Given the description of an element on the screen output the (x, y) to click on. 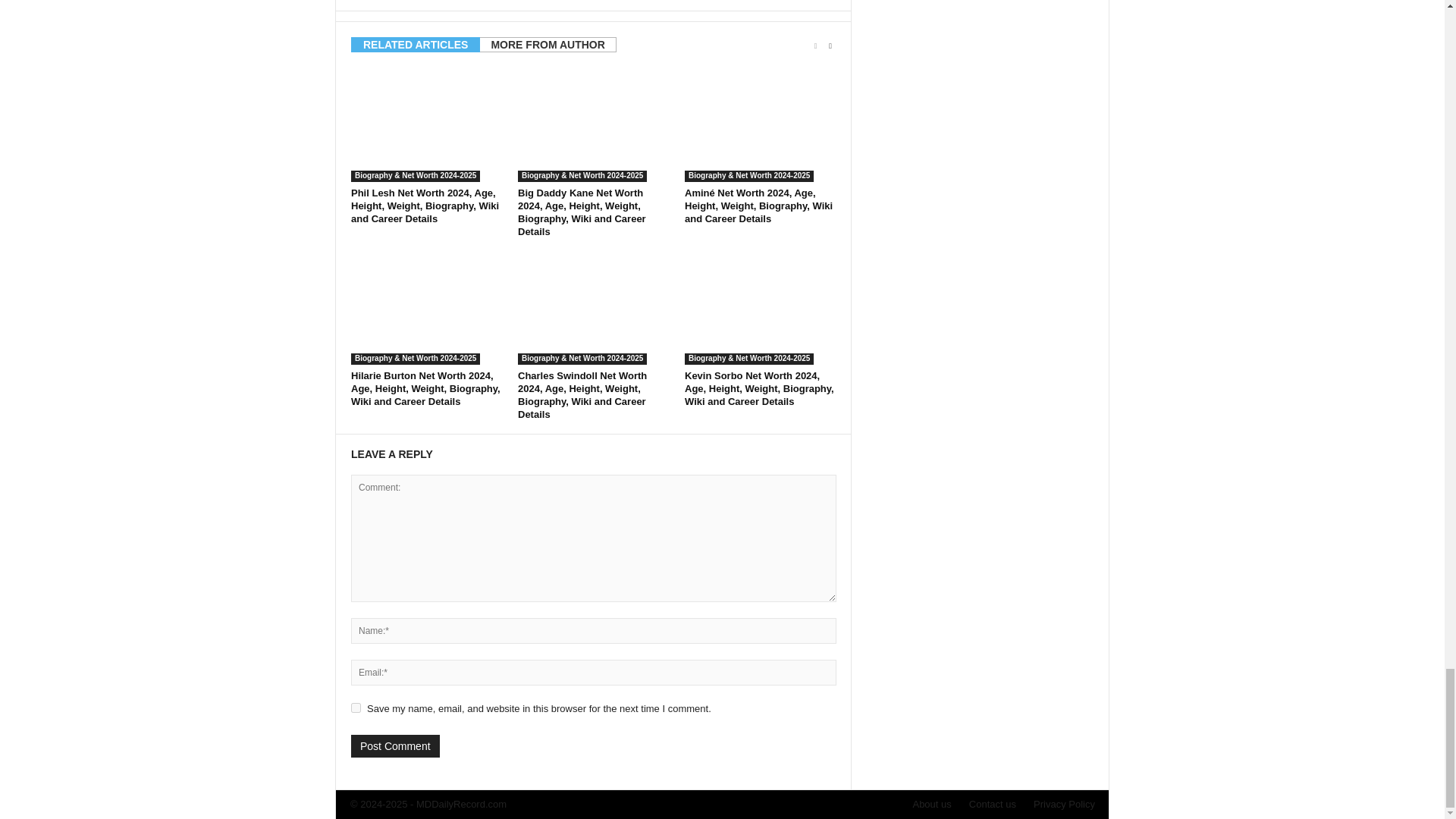
yes (355, 707)
RELATED ARTICLES (415, 44)
MORE FROM AUTHOR (547, 44)
